Given the description of an element on the screen output the (x, y) to click on. 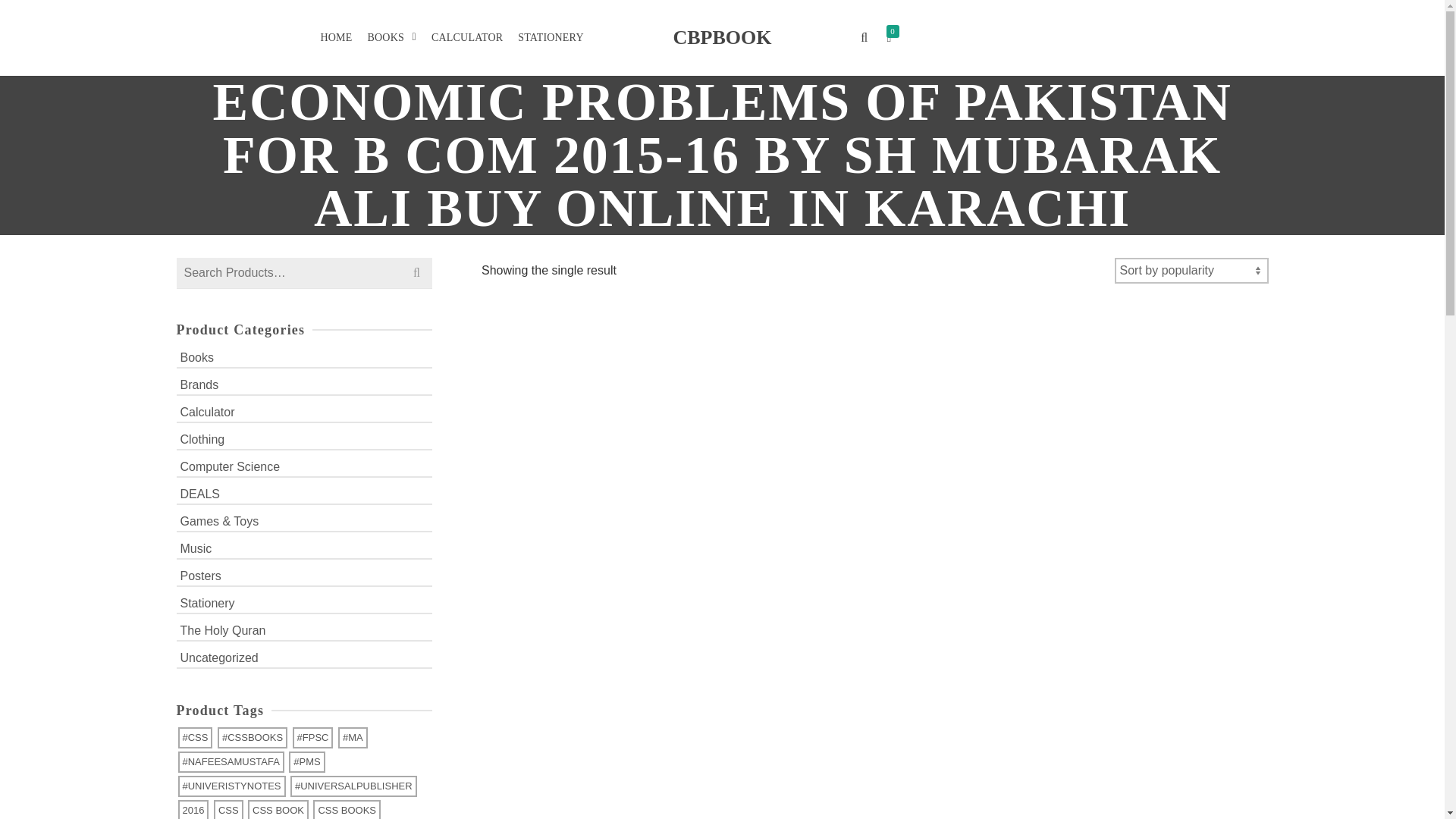
BOOKS (391, 37)
Search for: (304, 272)
HOME (336, 37)
